Given the description of an element on the screen output the (x, y) to click on. 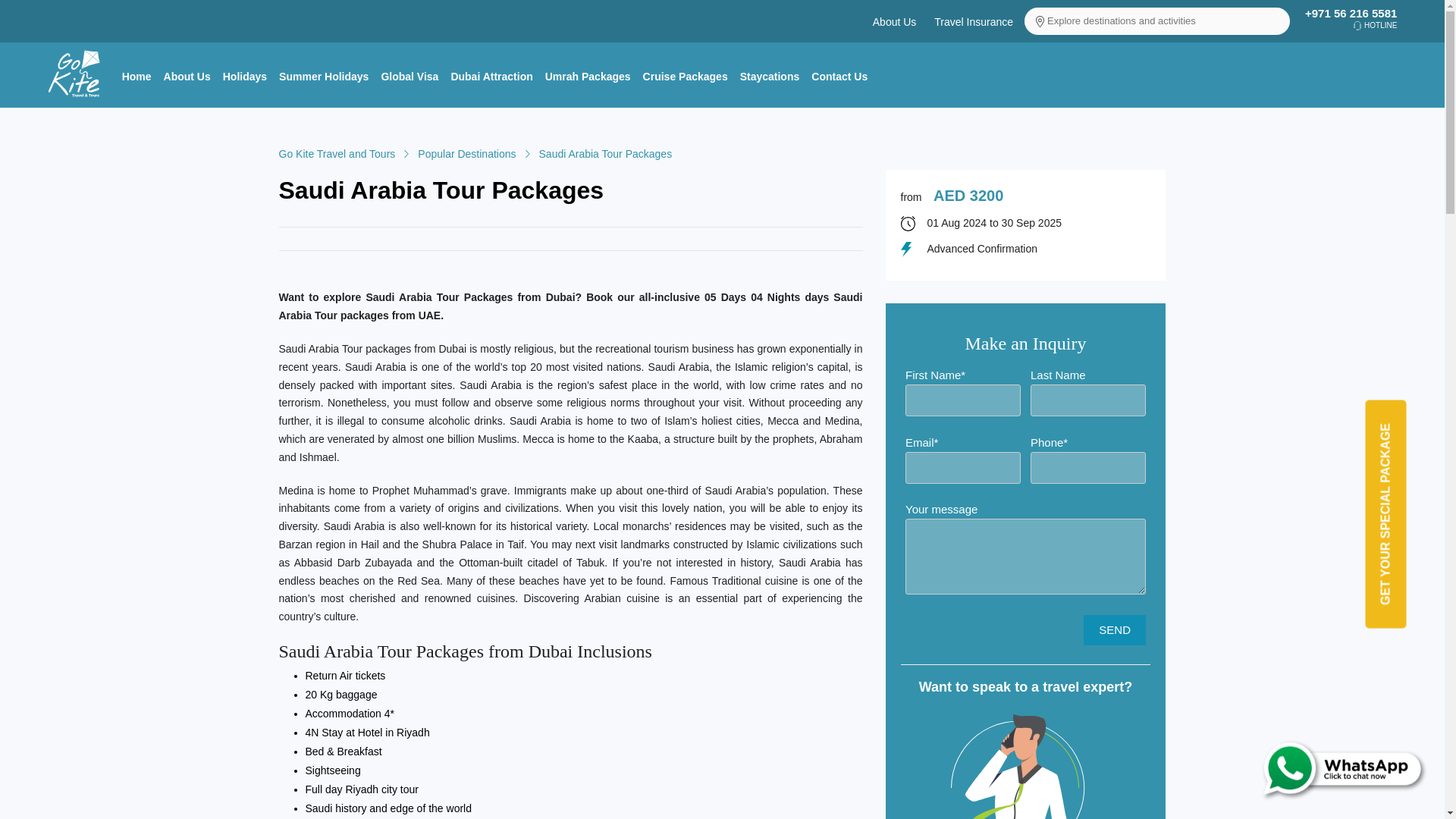
Travel Insurance (973, 21)
Cruise Packages (685, 76)
Home (136, 76)
Go to Popular Destinations. (466, 153)
Dubai Attraction (491, 76)
Staycations (769, 76)
Summer Holidays (323, 76)
Send whatsApp message (1315, 767)
Send (1114, 630)
Global Visa (409, 76)
